Given the description of an element on the screen output the (x, y) to click on. 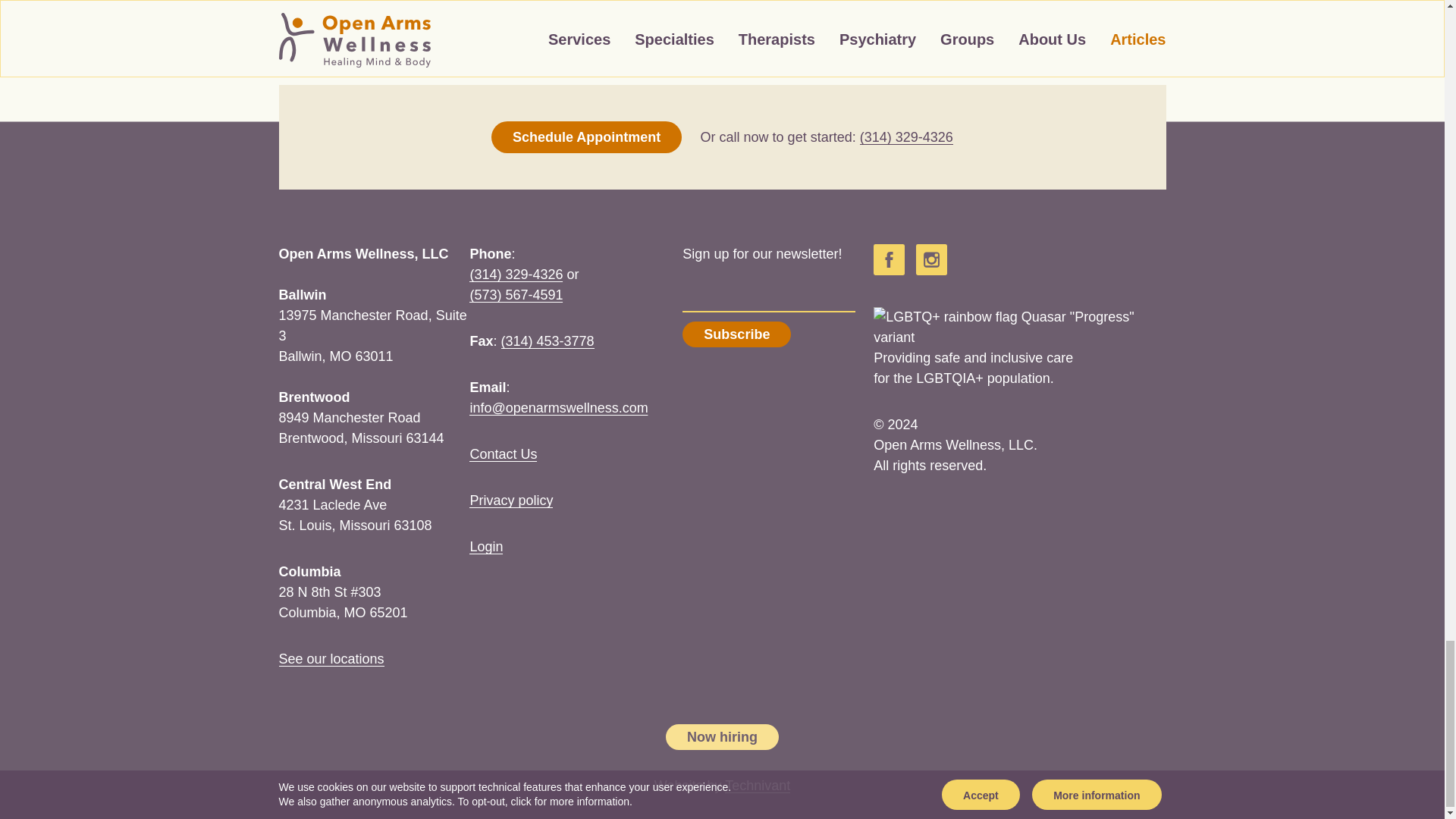
Subscribe (736, 334)
Login (485, 546)
Come Work at Open Arms! (721, 736)
Subscribe (736, 334)
Contact Us (502, 453)
Now hiring (721, 736)
Technivant (757, 785)
Facebook (888, 259)
Instagram (931, 259)
Schedule Appointment (586, 137)
See our locations (331, 658)
Privacy policy (510, 500)
